Given the description of an element on the screen output the (x, y) to click on. 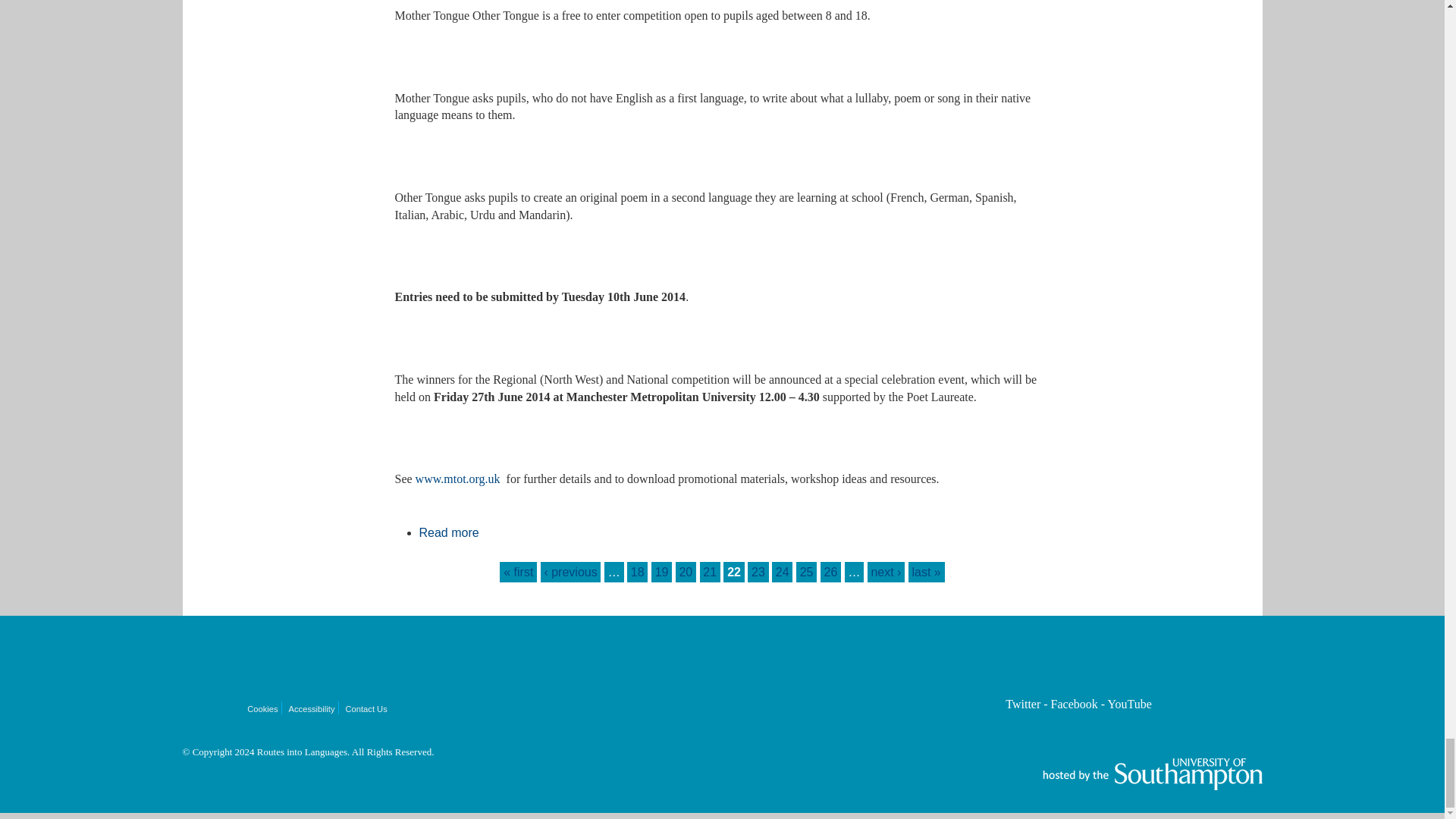
19 (661, 571)
Mother Tongue Other Tongue Celebration (449, 532)
Go to first page (517, 571)
18 (637, 571)
Go to page 20 (685, 571)
Go to page 19 (661, 571)
Go to page 21 (709, 571)
Go to page 23 (758, 571)
Go to previous page (569, 571)
Go to page 18 (449, 532)
www.mtot.org.uk (637, 571)
20 (457, 478)
